Given the description of an element on the screen output the (x, y) to click on. 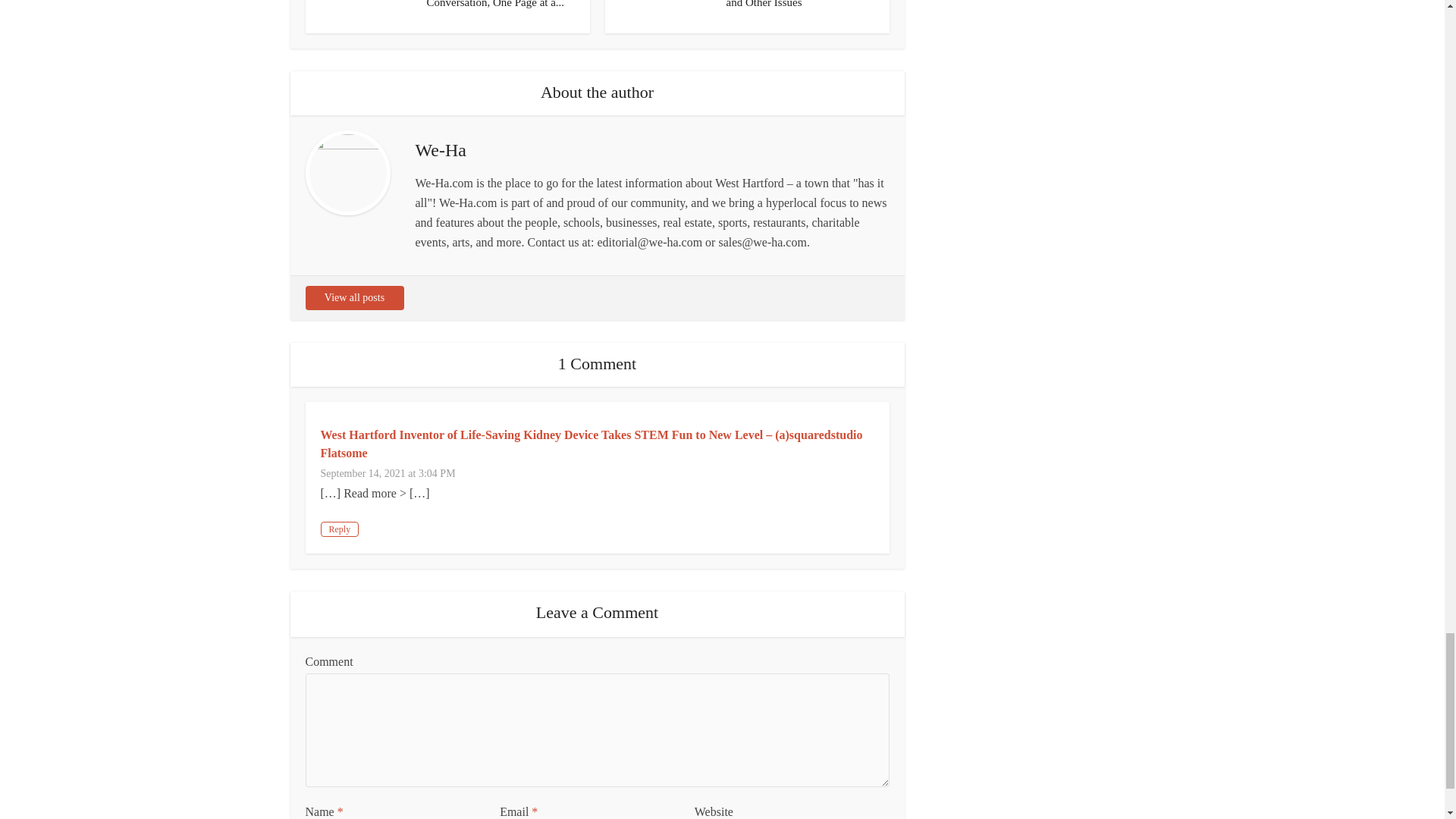
Consumer Diary: Temu Recalls and Other Issues (797, 4)
Fostering Community and Conversation, One Page at a Time (495, 4)
